Given the description of an element on the screen output the (x, y) to click on. 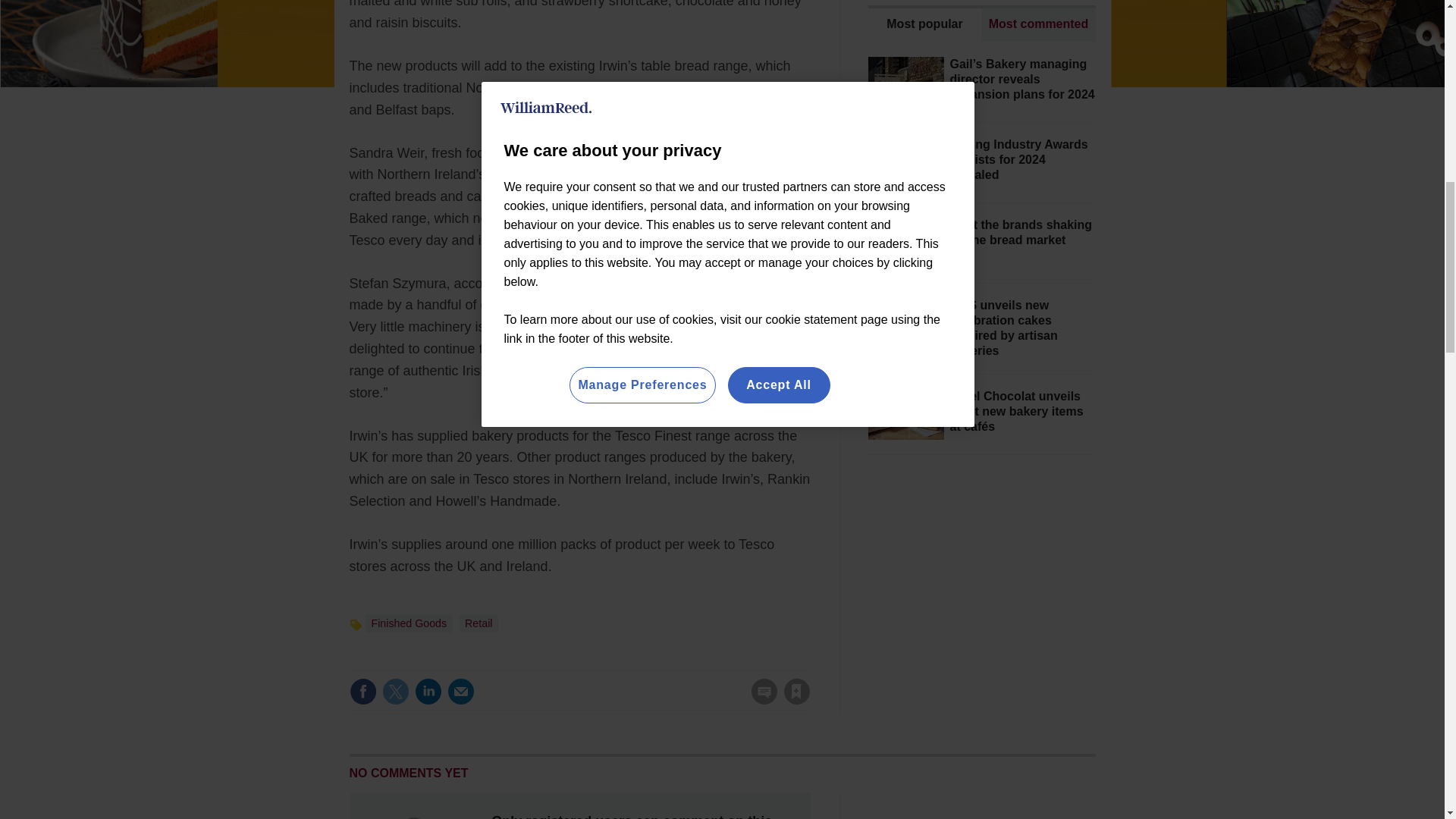
No comments (759, 700)
Share this on Twitter (395, 691)
Share this on Facebook (362, 691)
Email this article (460, 691)
Share this on Linked in (427, 691)
